Given the description of an element on the screen output the (x, y) to click on. 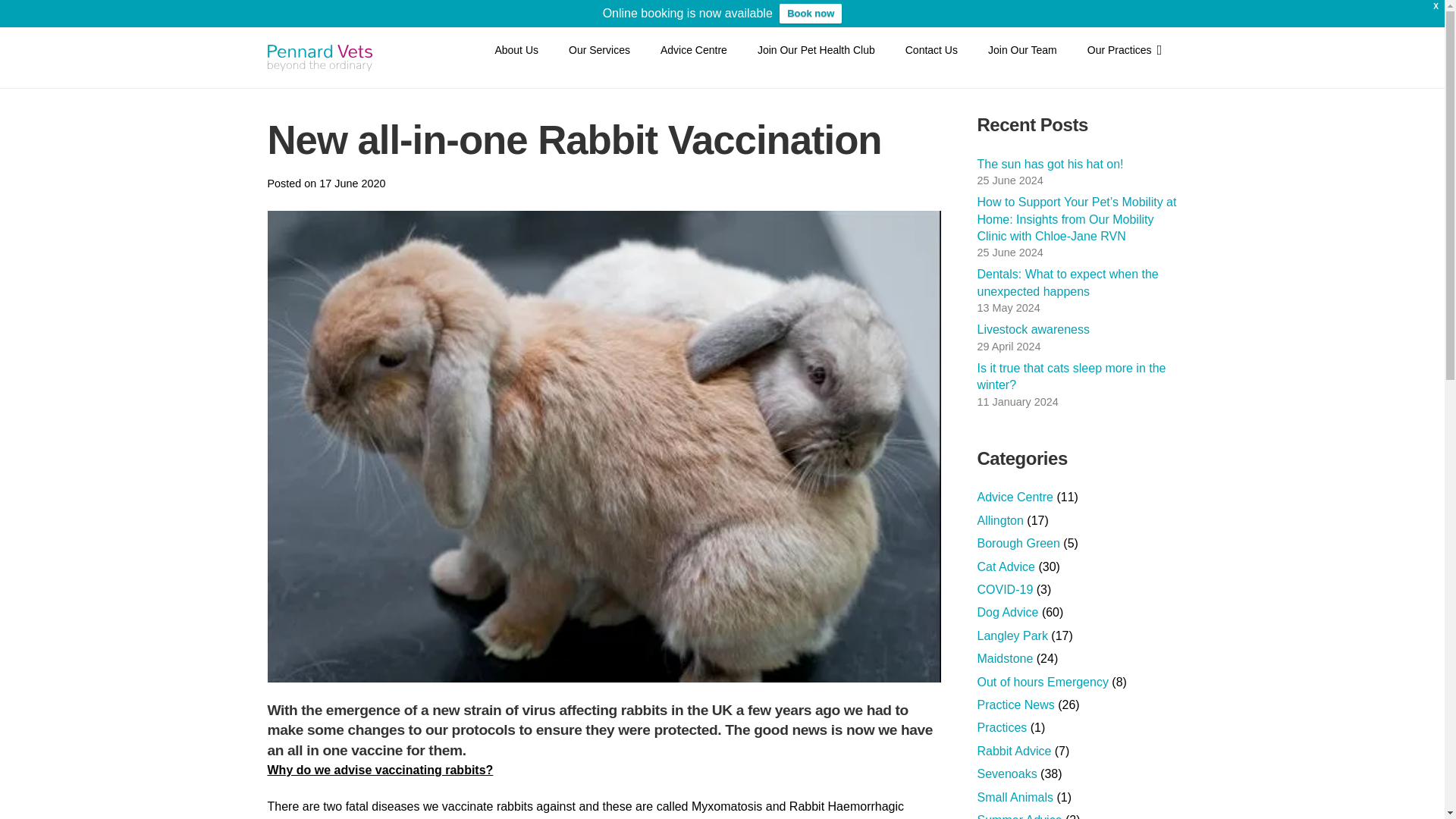
Our Services (599, 49)
Contact Us (930, 49)
About Us (516, 49)
Advice Centre (693, 49)
Book now (809, 13)
Join Our Team (1021, 49)
Our Practices (1124, 49)
Join Our Pet Health Club (815, 49)
